Given the description of an element on the screen output the (x, y) to click on. 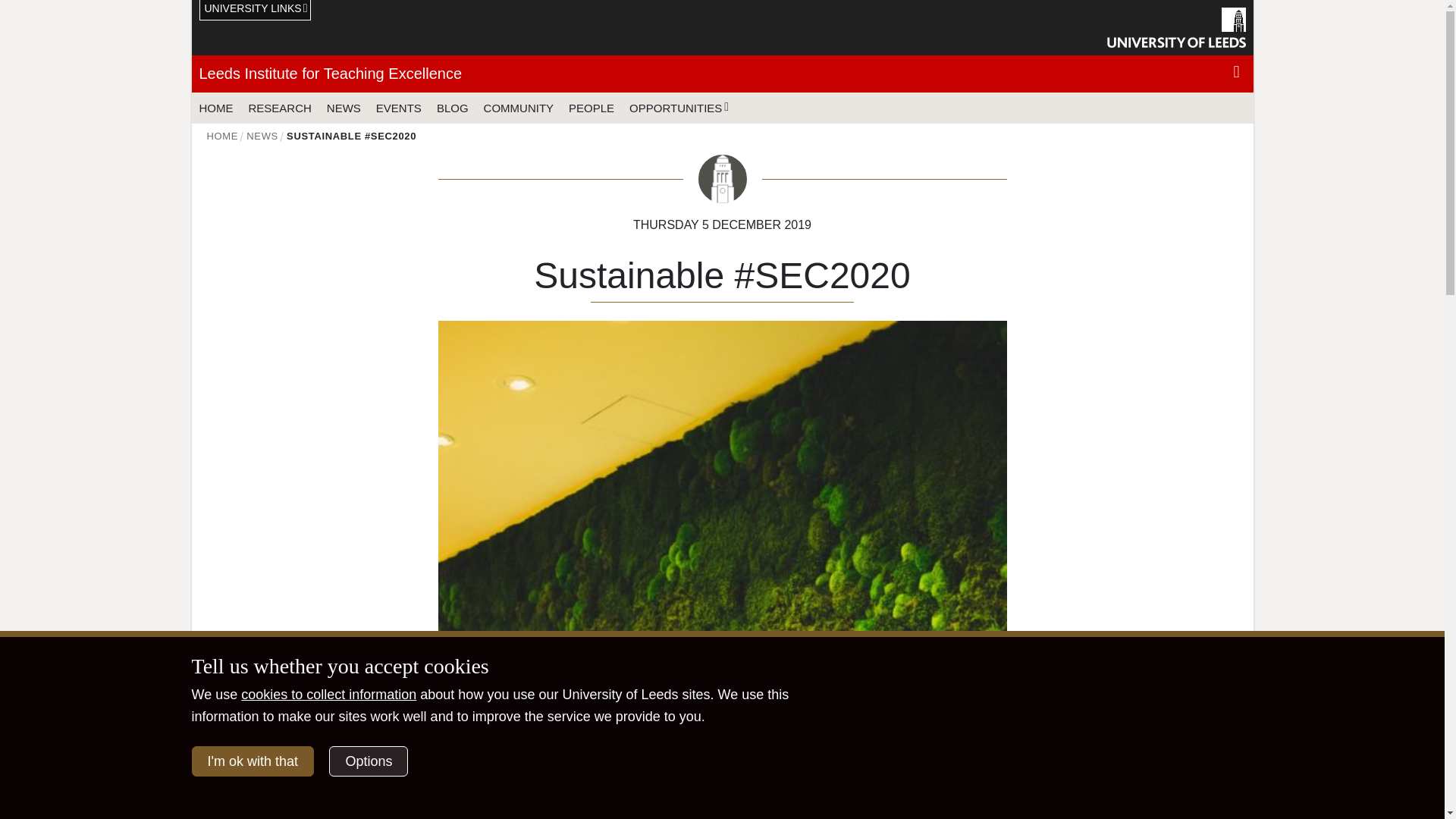
UNIVERSITY LINKS (254, 10)
Leeds Institute for Teaching Excellence (329, 73)
News (262, 135)
University of Leeds home page (1176, 26)
Home (222, 135)
